Given the description of an element on the screen output the (x, y) to click on. 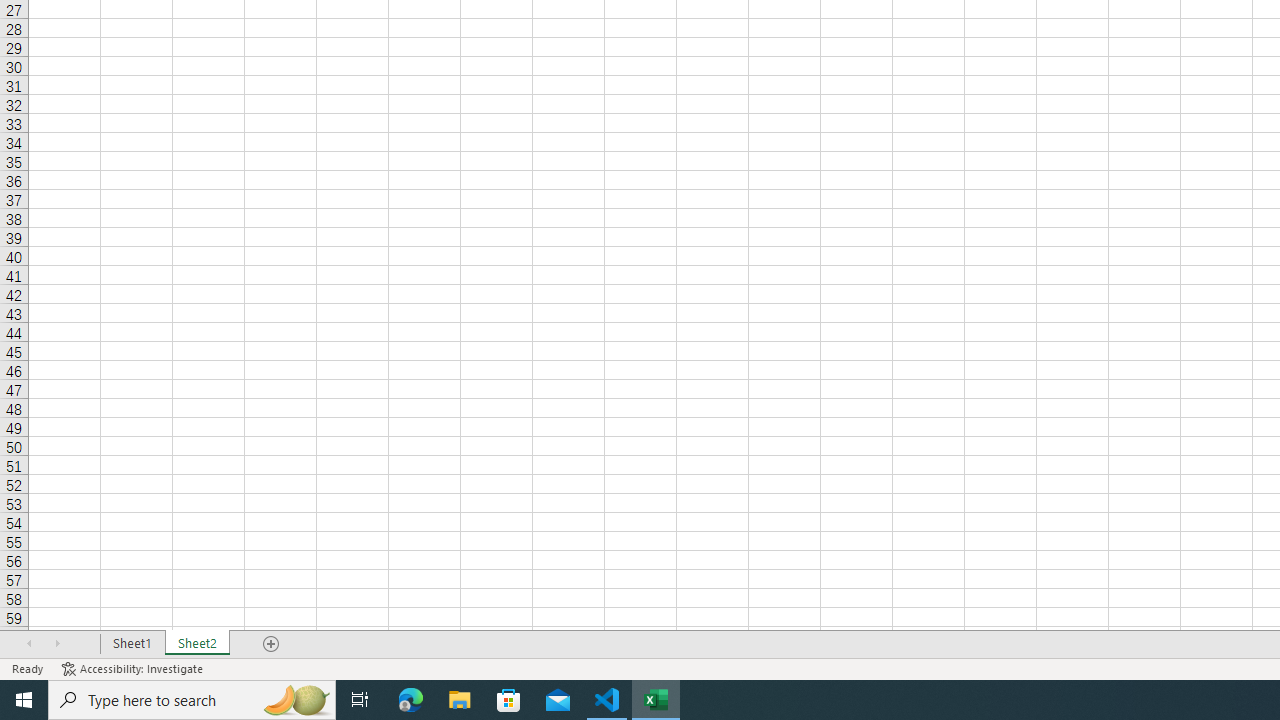
Sheet2 (197, 644)
